Given the description of an element on the screen output the (x, y) to click on. 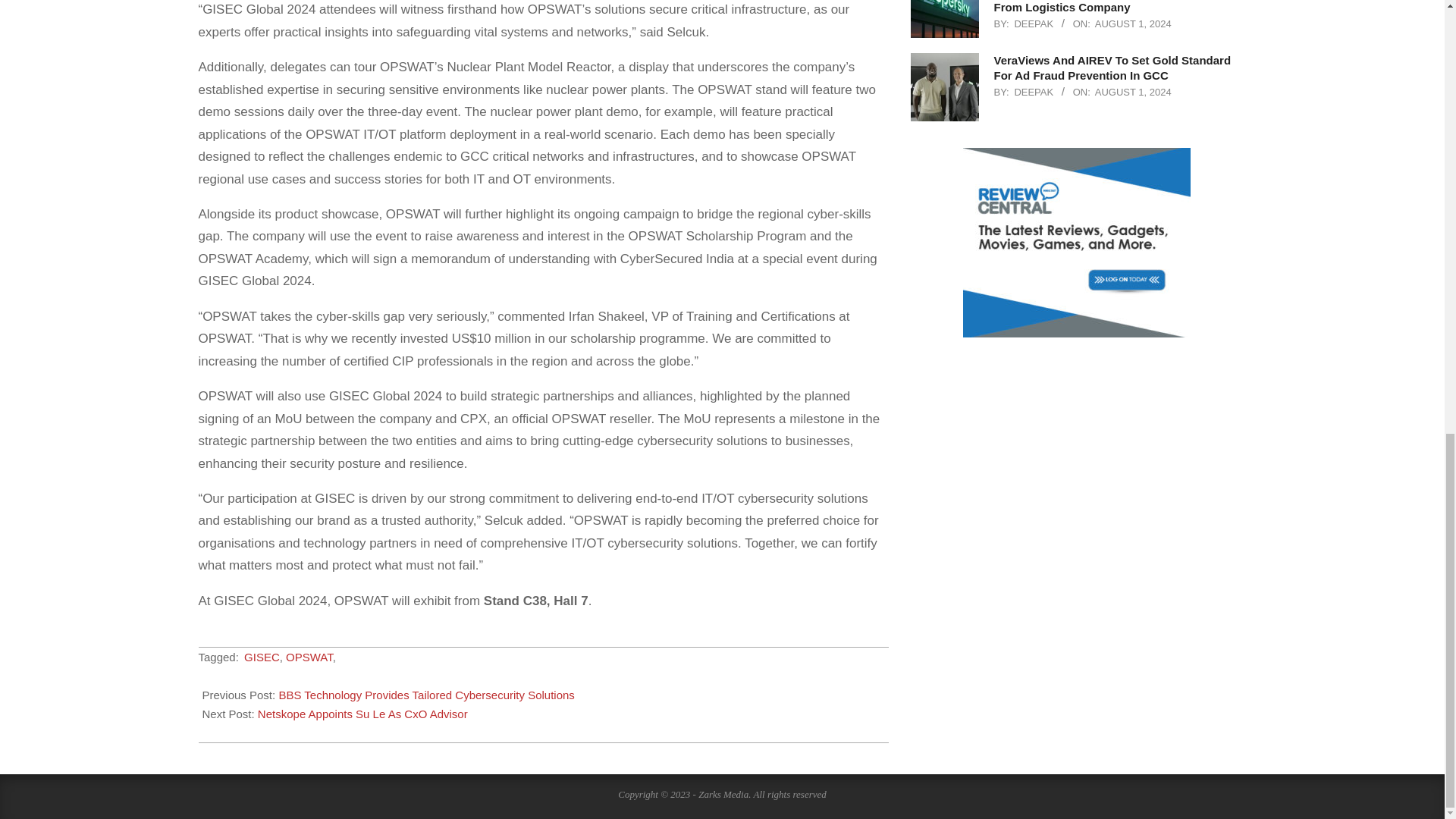
Posts by Deepak (1032, 23)
Thursday, August 1, 2024, 3:42 pm (1133, 91)
Posts by Deepak (1032, 91)
Thursday, August 1, 2024, 4:34 pm (1133, 23)
